Given the description of an element on the screen output the (x, y) to click on. 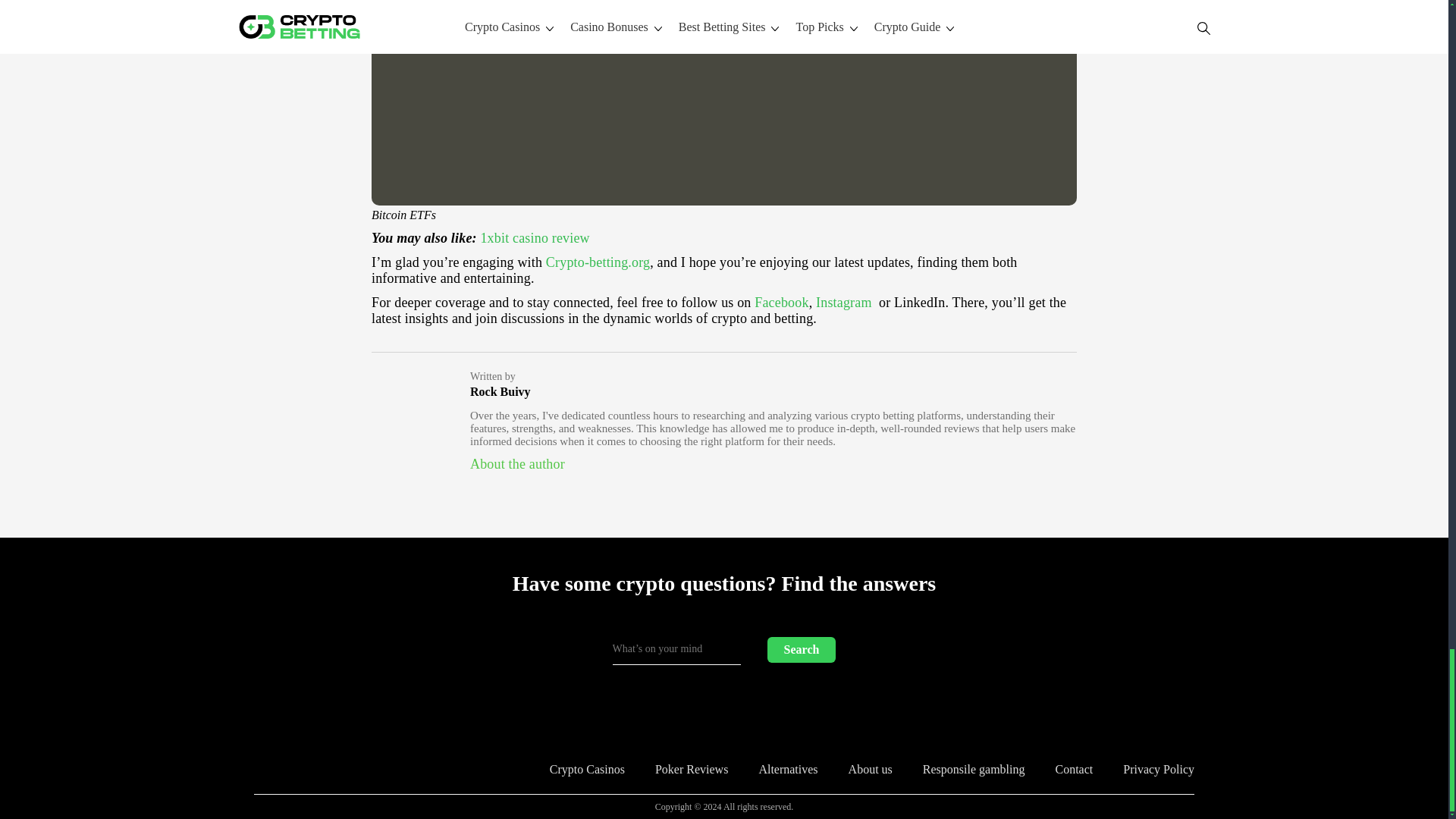
Bitcoin ETFs (724, 201)
Search (801, 649)
Search (801, 649)
